Given the description of an element on the screen output the (x, y) to click on. 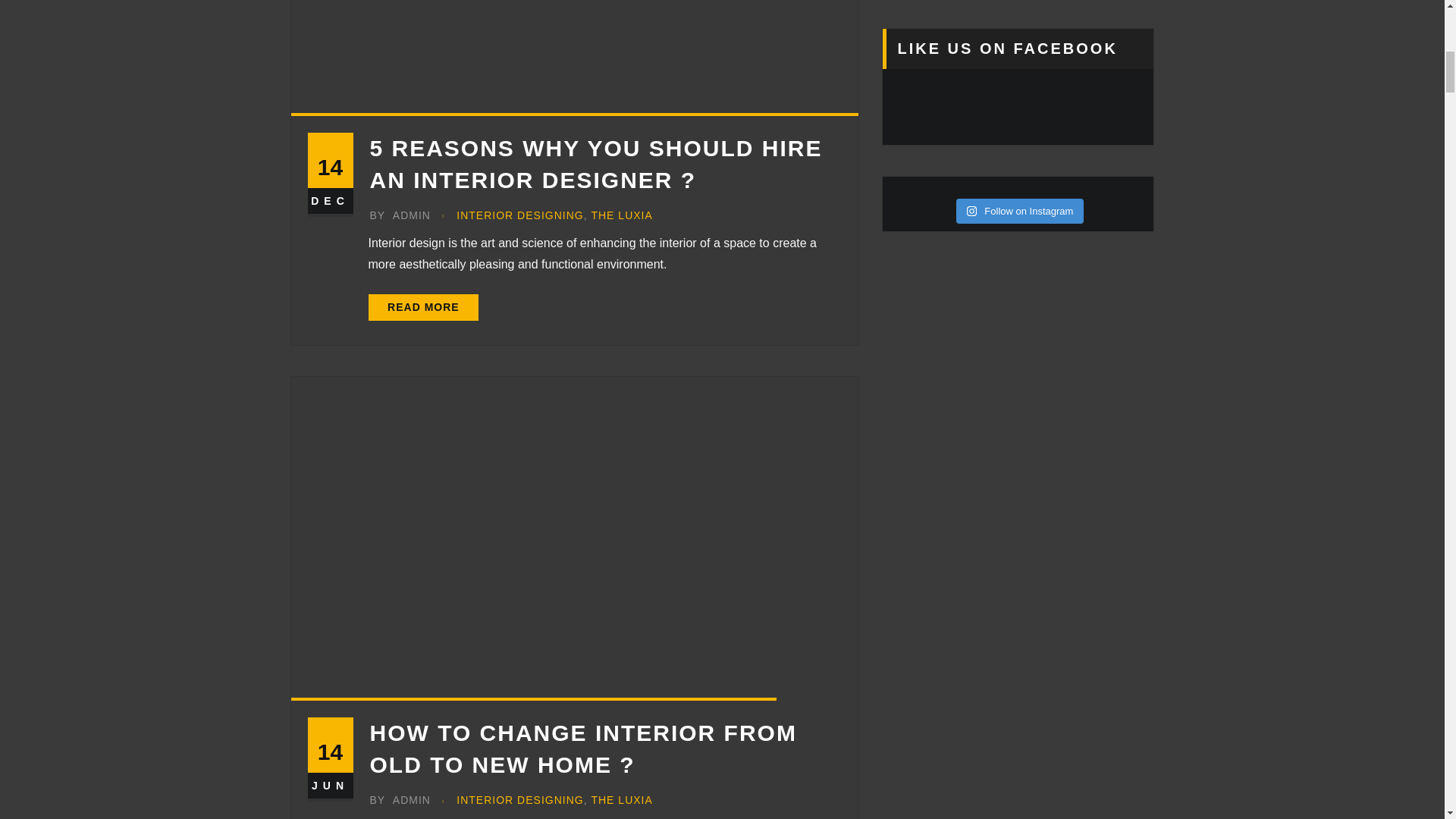
INTERIOR DESIGNING (520, 800)
5 REASONS WHY YOU SHOULD HIRE AN INTERIOR DESIGNER ? (595, 163)
THE LUXIA (621, 215)
THE LUXIA (621, 800)
HOW TO CHANGE INTERIOR FROM OLD TO NEW HOME ? (582, 748)
READ MORE (423, 307)
BY ADMIN (399, 800)
BY ADMIN (399, 215)
INTERIOR DESIGNING (520, 215)
